Given the description of an element on the screen output the (x, y) to click on. 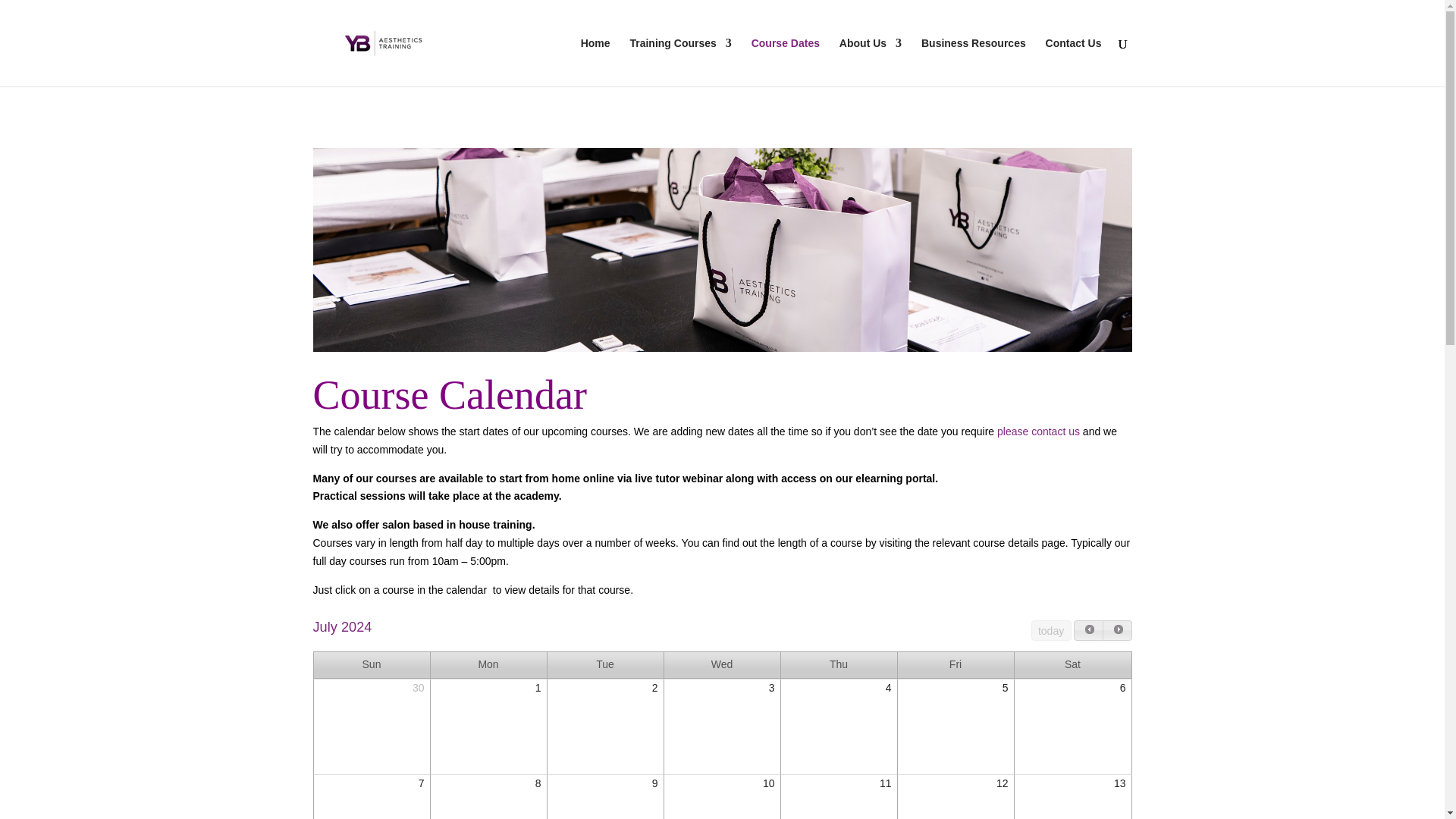
Course Dates (785, 61)
About Us (870, 61)
Business Resources (973, 61)
Contact Us (1073, 61)
Training Courses (679, 61)
Contact Us (1038, 431)
